Given the description of an element on the screen output the (x, y) to click on. 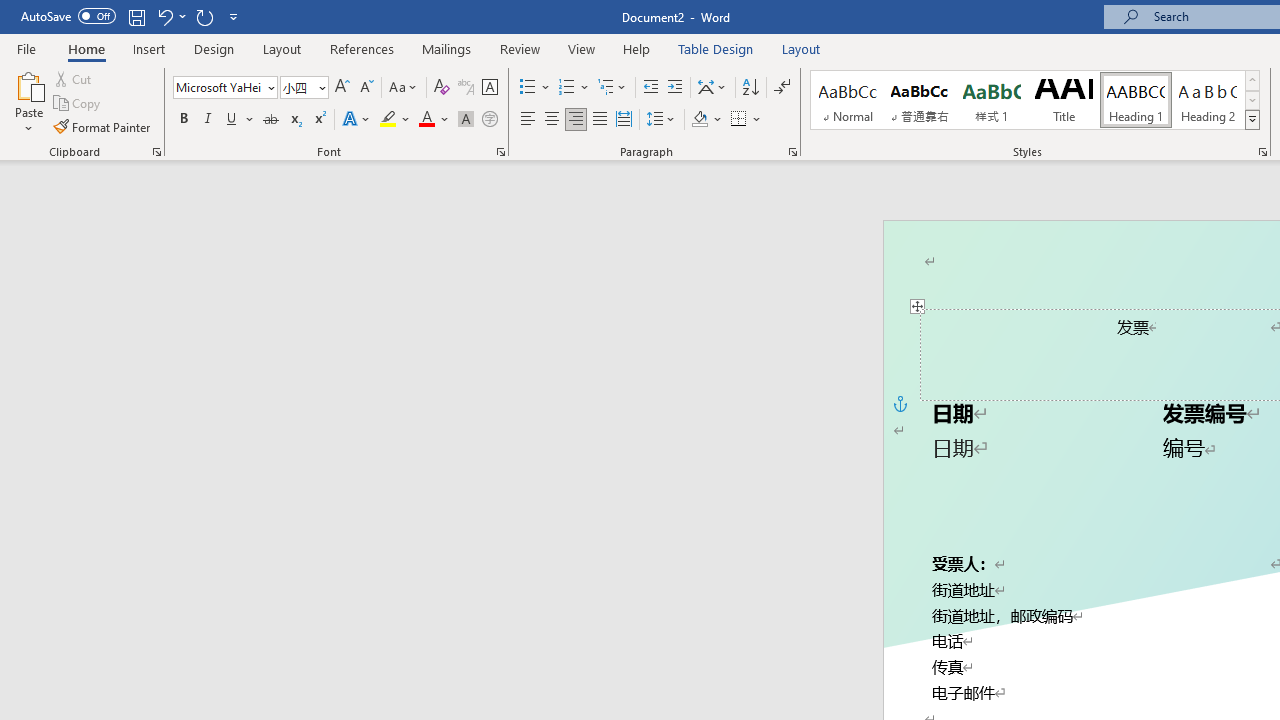
Shading RGB(0, 0, 0) (699, 119)
Line and Paragraph Spacing (661, 119)
Undo Apply Quick Style (170, 15)
Title (1063, 100)
Subscript (294, 119)
Change Case (404, 87)
Styles (1252, 120)
Bold (183, 119)
